Given the description of an element on the screen output the (x, y) to click on. 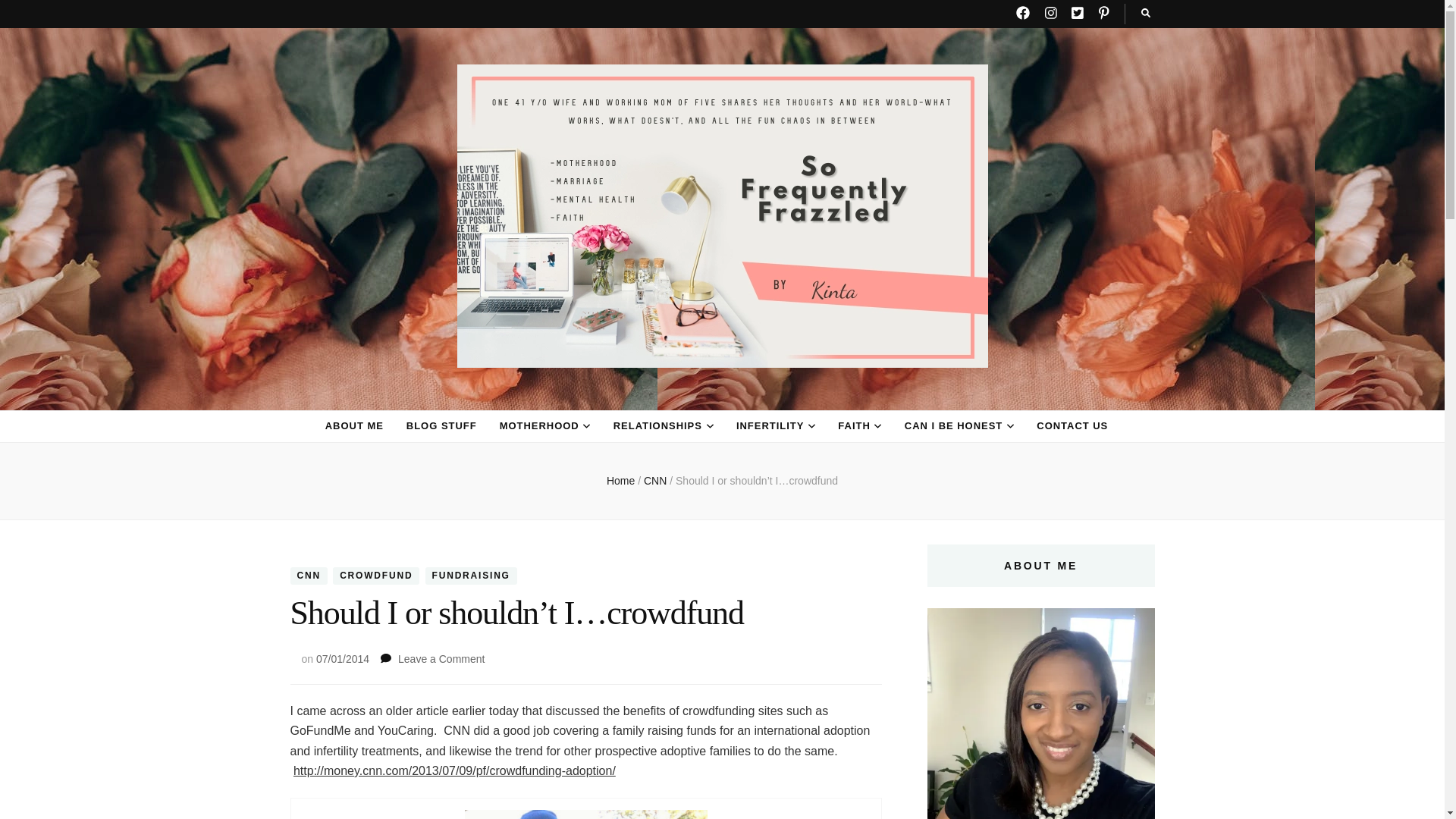
So Frequently Frazzled (509, 397)
RELATIONSHIPS (656, 426)
CAN I BE HONEST (953, 426)
BLOG STUFF (441, 426)
FAITH (853, 426)
INFERTILITY (769, 426)
ABOUT ME (354, 426)
MOTHERHOOD (539, 426)
